Given the description of an element on the screen output the (x, y) to click on. 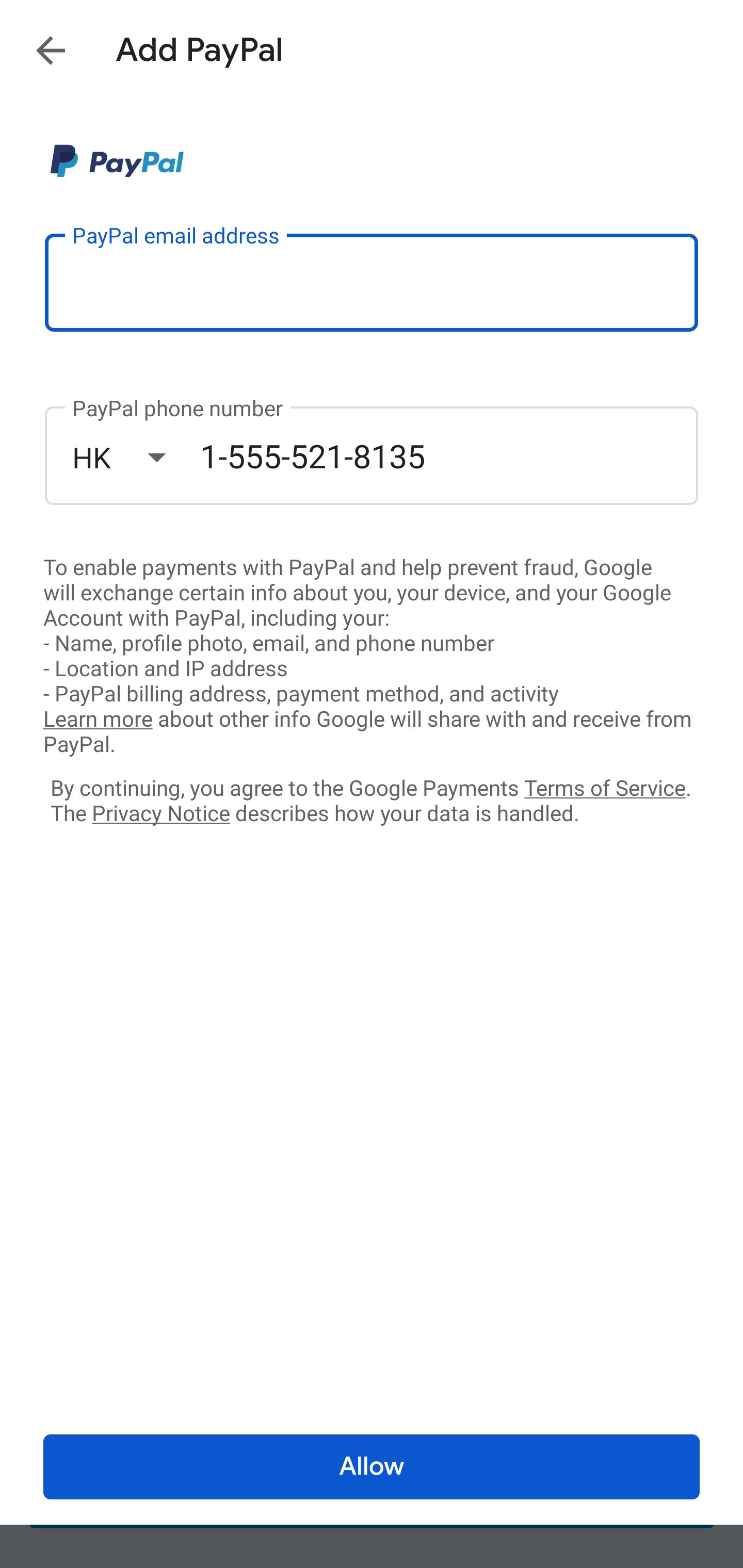
Navigate up (50, 50)
PayPal email address (371, 282)
HK (135, 456)
Learn more (97, 719)
Terms of Service (604, 787)
Privacy Notice (160, 814)
Allow (371, 1466)
